Given the description of an element on the screen output the (x, y) to click on. 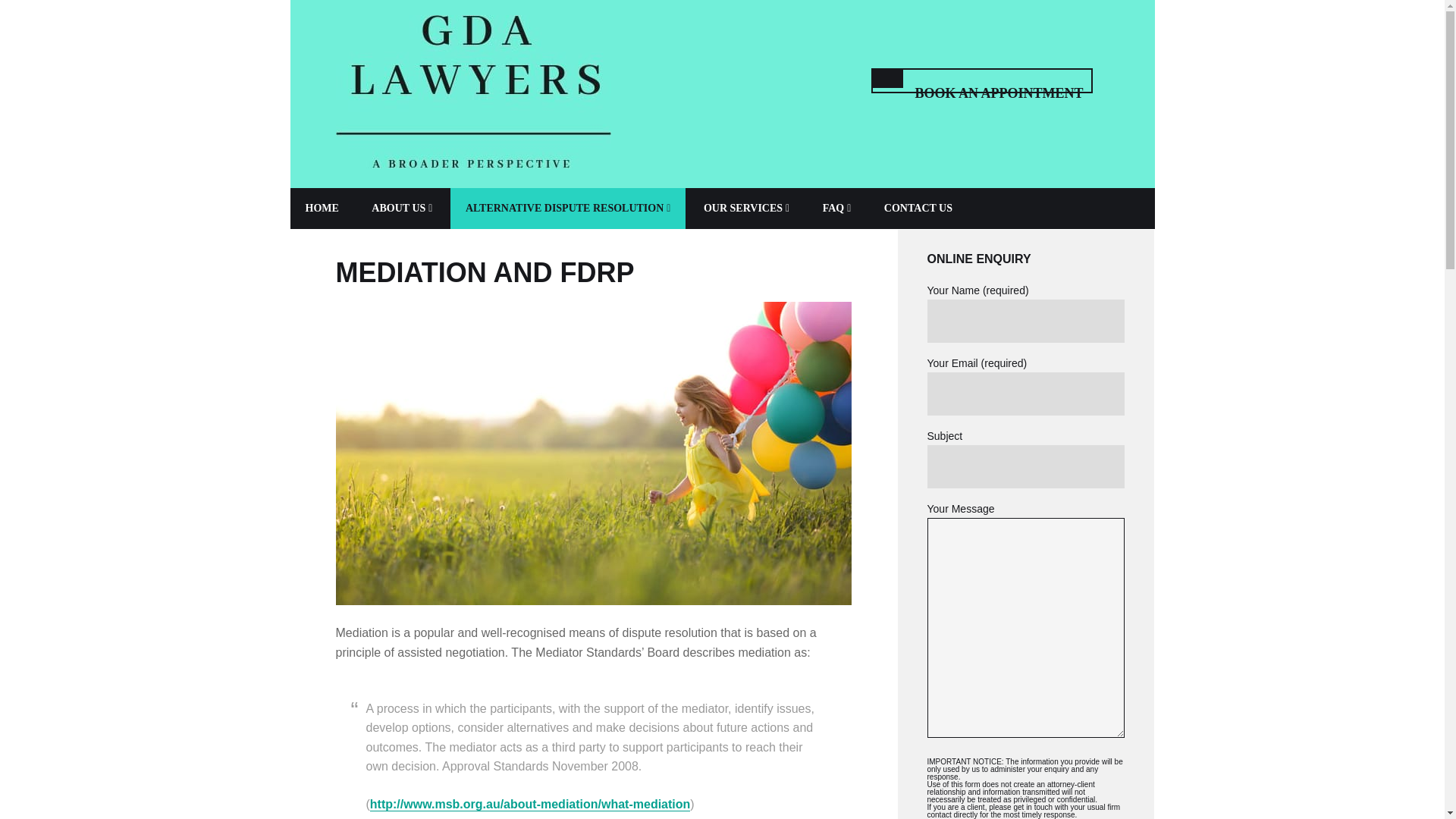
BOOK AN APPOINTMENT (981, 80)
HOME (321, 208)
FAQ (837, 208)
CONTACT US (918, 208)
ALTERNATIVE DISPUTE RESOLUTION (567, 208)
GDA Lawyers Pty Ltd (472, 93)
ABOUT US (401, 208)
OUR SERVICES (746, 208)
